Given the description of an element on the screen output the (x, y) to click on. 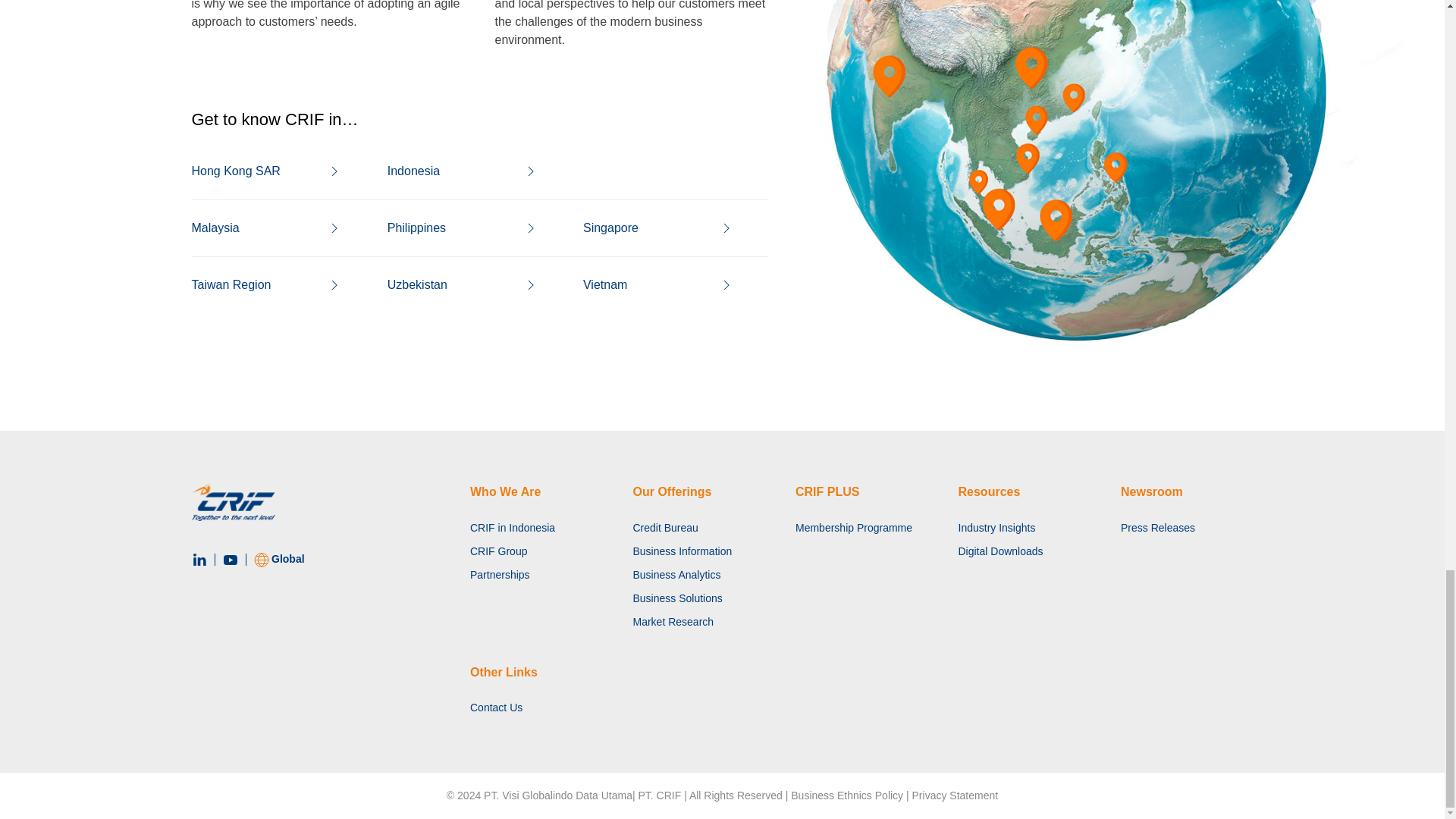
Indonesia (470, 171)
Hong Kong SAR (273, 171)
Taiwan Region (273, 285)
Philippines (470, 228)
Singapore (666, 228)
Malaysia (273, 228)
